Given the description of an element on the screen output the (x, y) to click on. 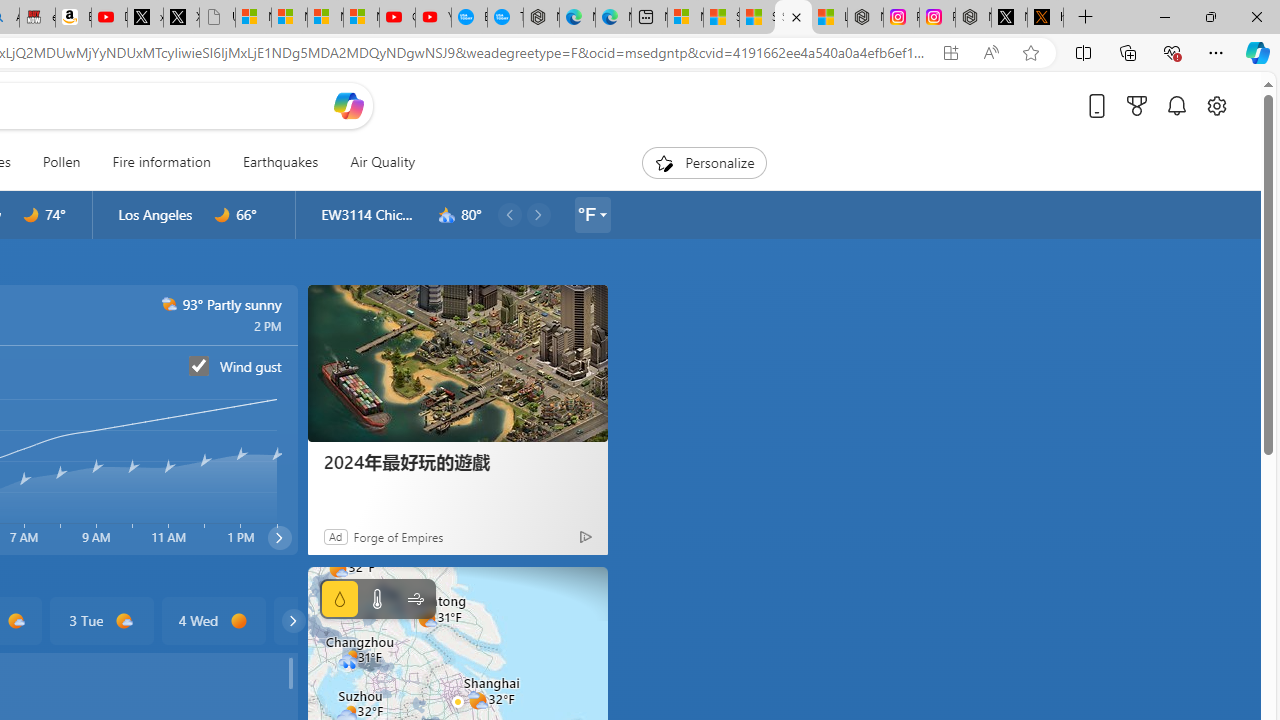
Nordace - Nordace has arrived Hong Kong (541, 17)
Earthquakes (280, 162)
common/carouselChevron (293, 620)
Temperature (376, 599)
Wind gust (199, 365)
Precipitation (339, 599)
Wind (414, 599)
